Given the description of an element on the screen output the (x, y) to click on. 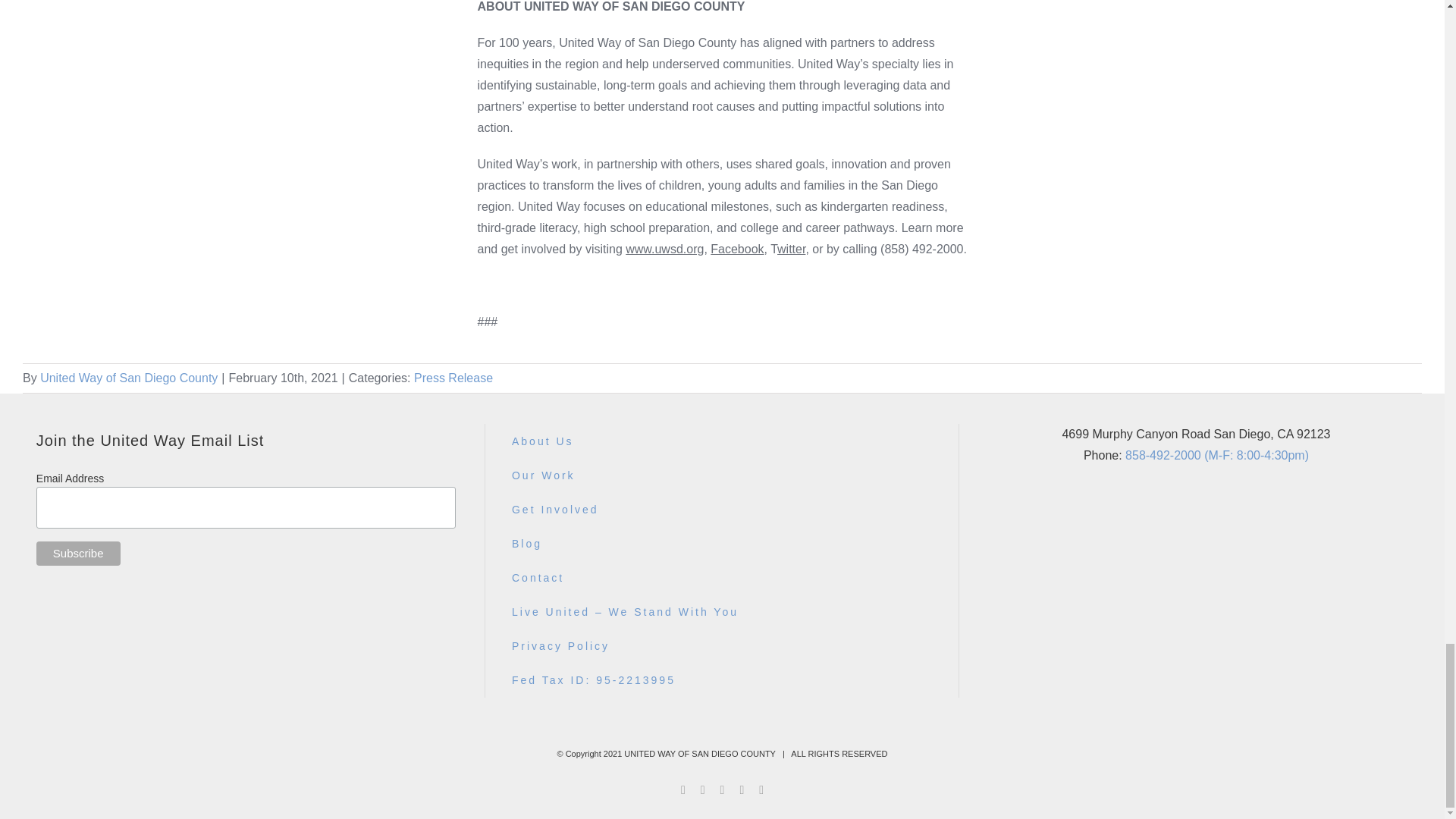
Subscribe (78, 553)
Posts by United Way of San Diego County (128, 377)
